Given the description of an element on the screen output the (x, y) to click on. 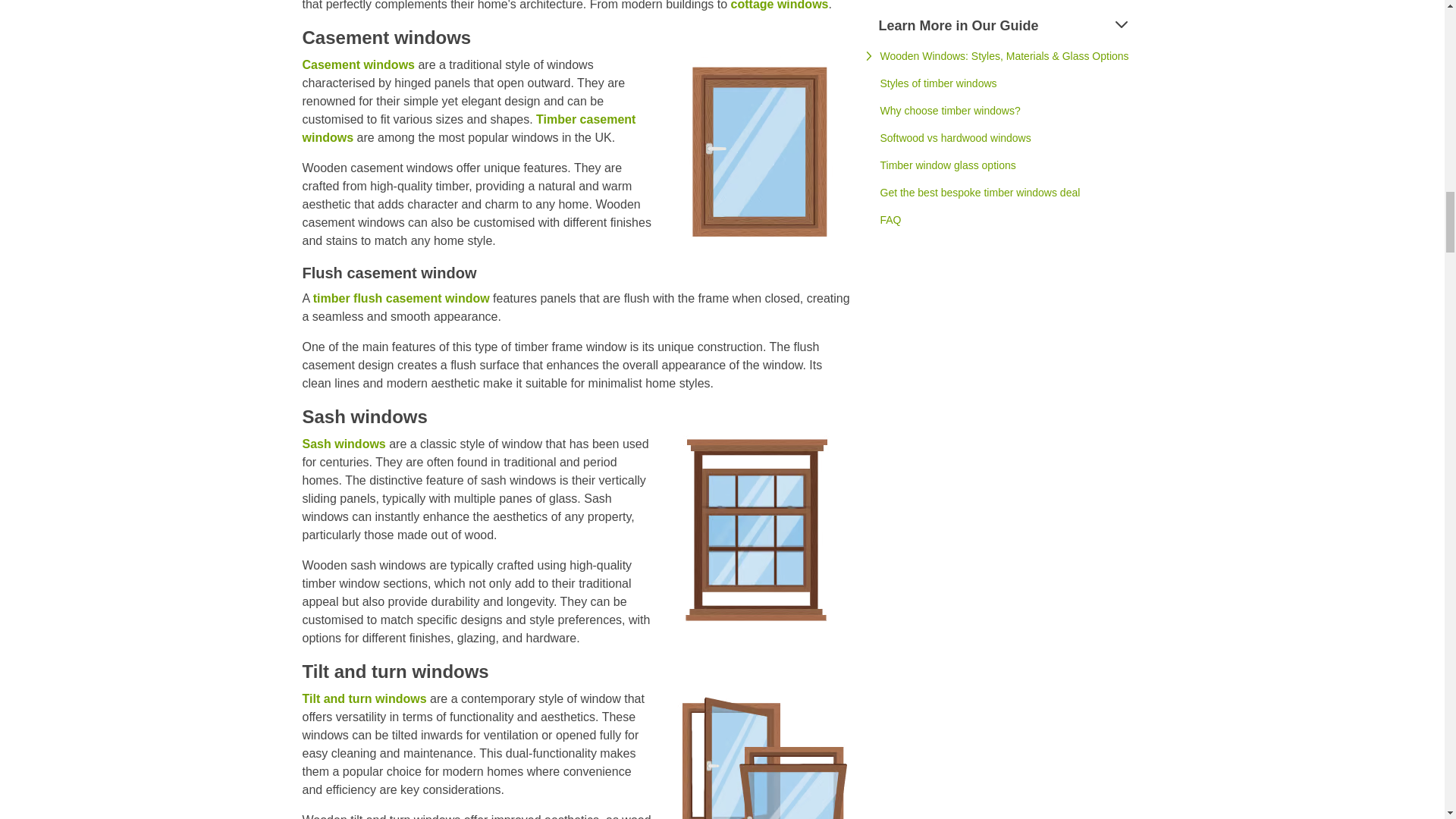
no-shadow (758, 529)
